Given the description of an element on the screen output the (x, y) to click on. 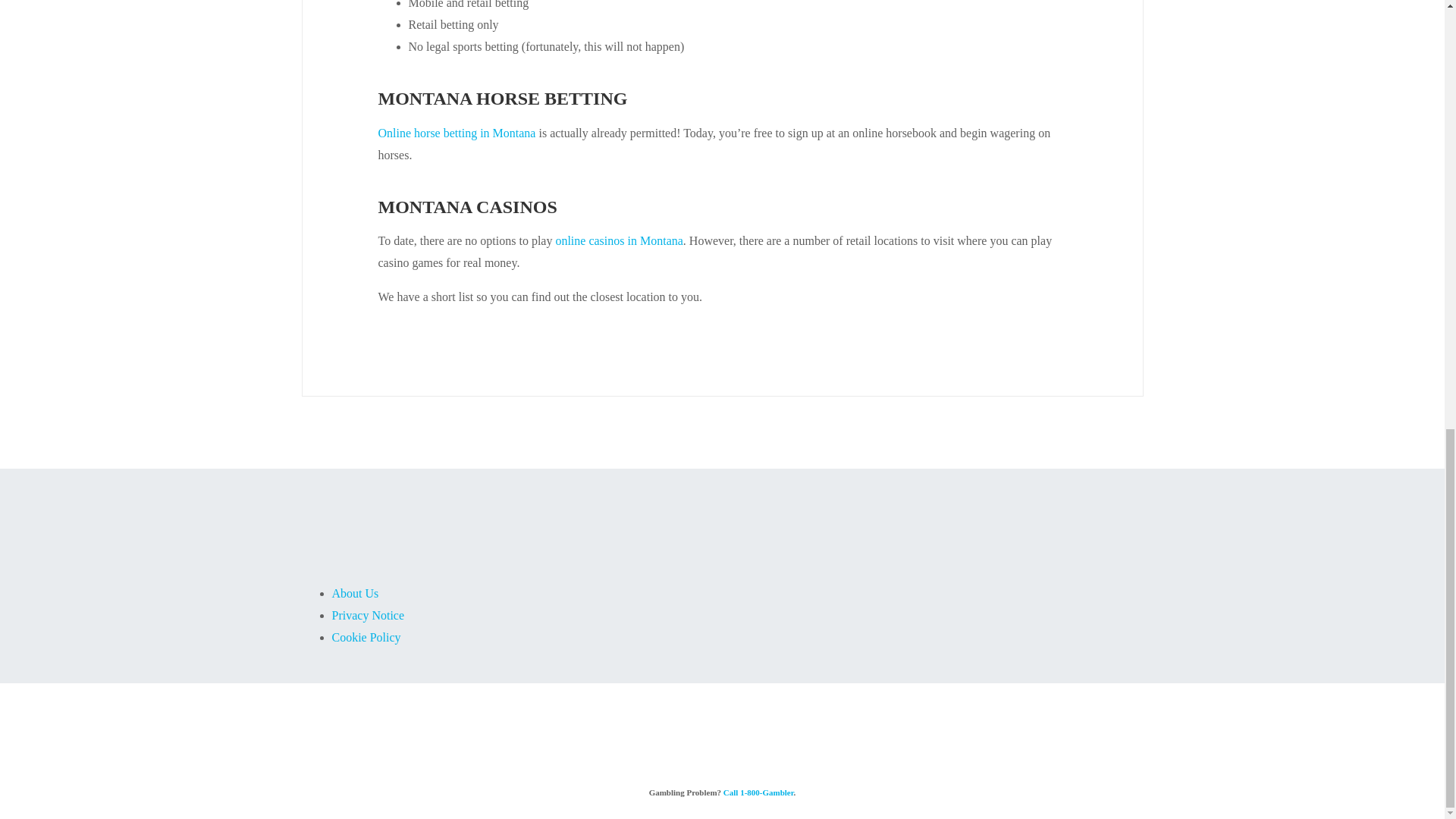
Online horse betting in Montana (456, 132)
National Council on Problem Gambling (748, 742)
Privacy Notice (367, 615)
Cookie Policy (366, 636)
Call 1-800-Gambler (758, 791)
21 Play Responsibly (604, 742)
About Us (354, 593)
online casinos in Montana (618, 240)
